Given the description of an element on the screen output the (x, y) to click on. 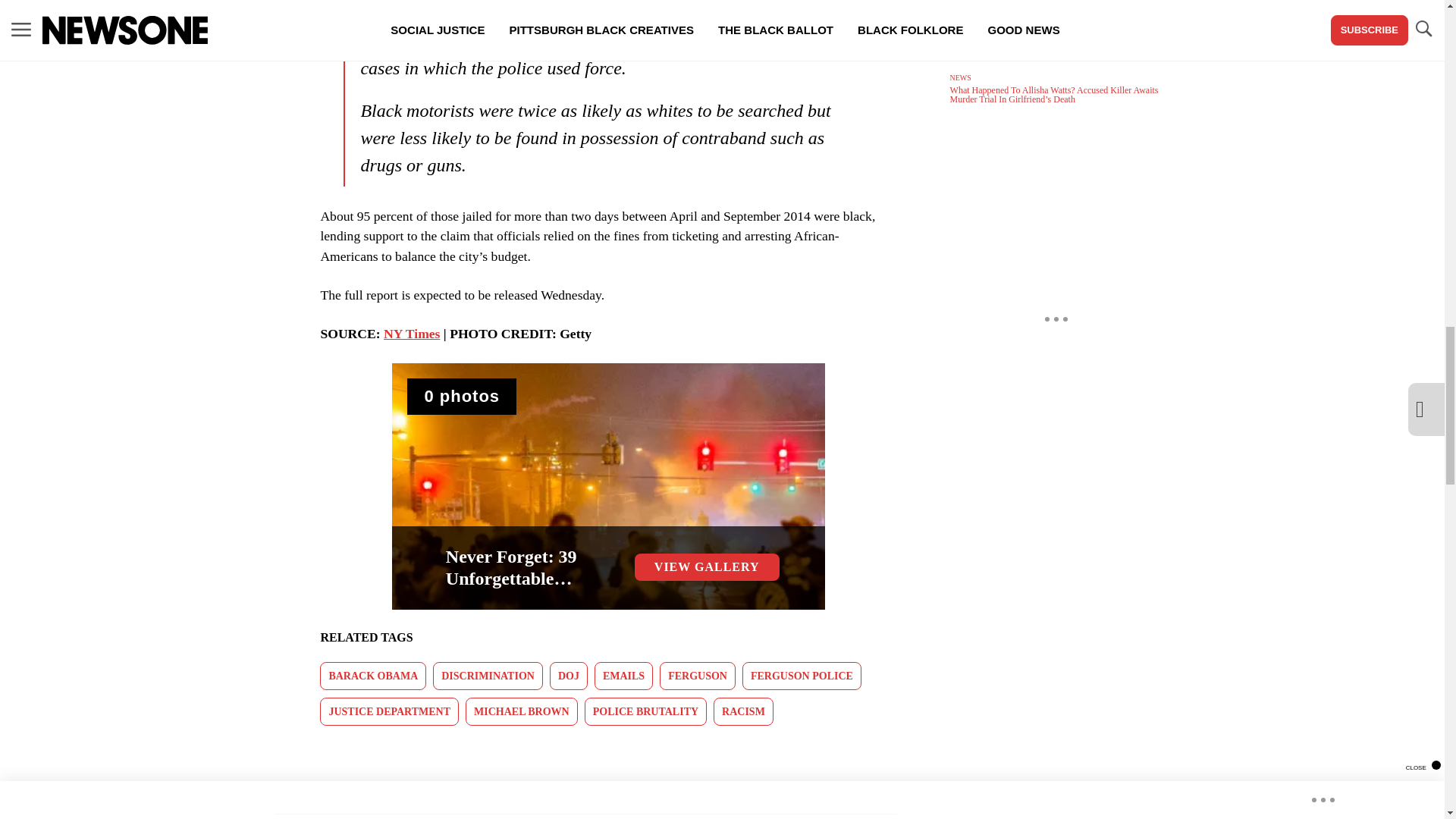
BARACK OBAMA (373, 675)
FERGUSON (697, 675)
FERGUSON POLICE (801, 675)
JUSTICE DEPARTMENT (389, 711)
DISCRIMINATION (487, 675)
DOJ (569, 675)
EMAILS (623, 675)
NY Times (411, 333)
Media Playlist (461, 396)
